Given the description of an element on the screen output the (x, y) to click on. 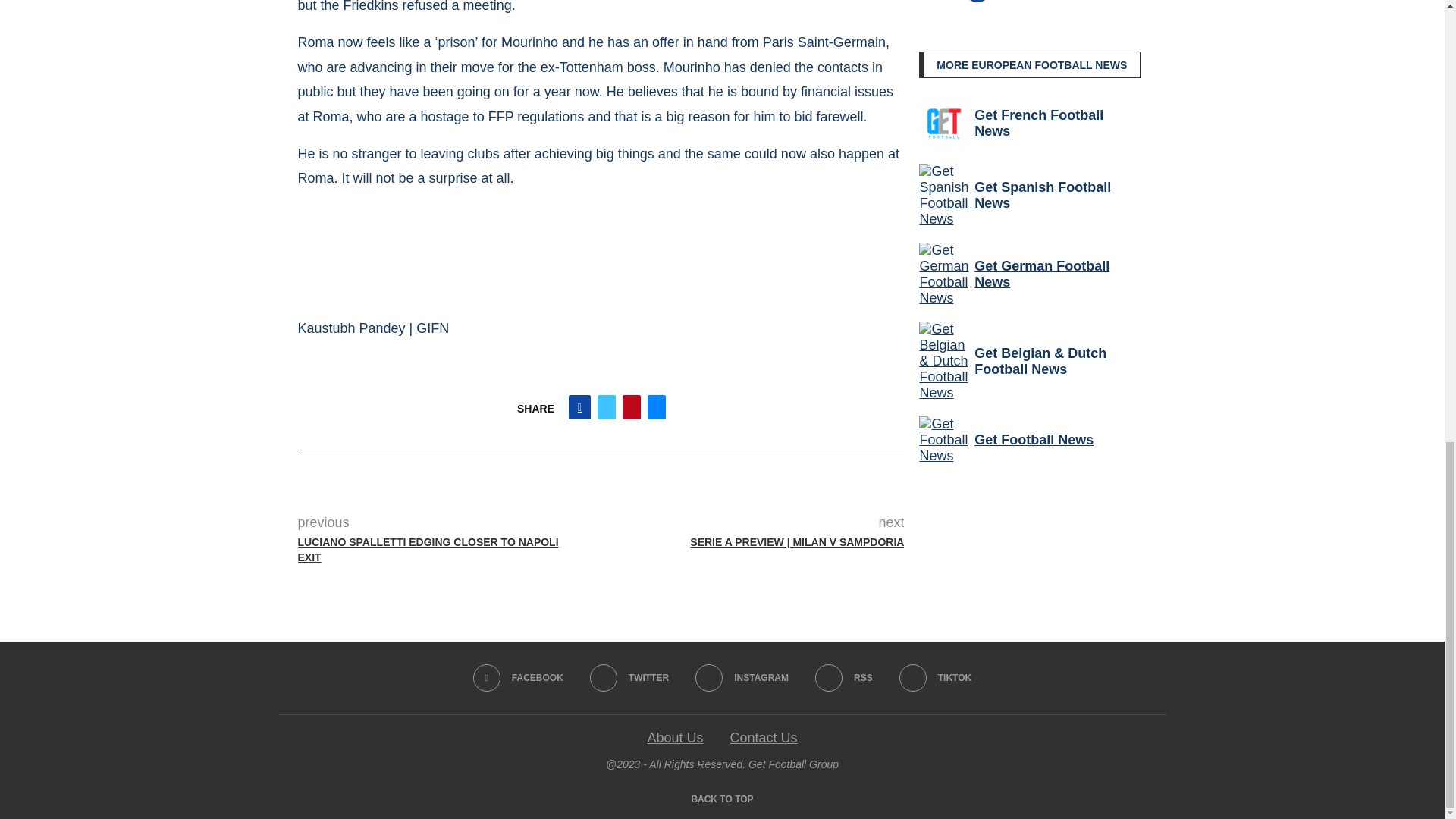
Get Football News (943, 440)
Get French Football News (943, 123)
